Given the description of an element on the screen output the (x, y) to click on. 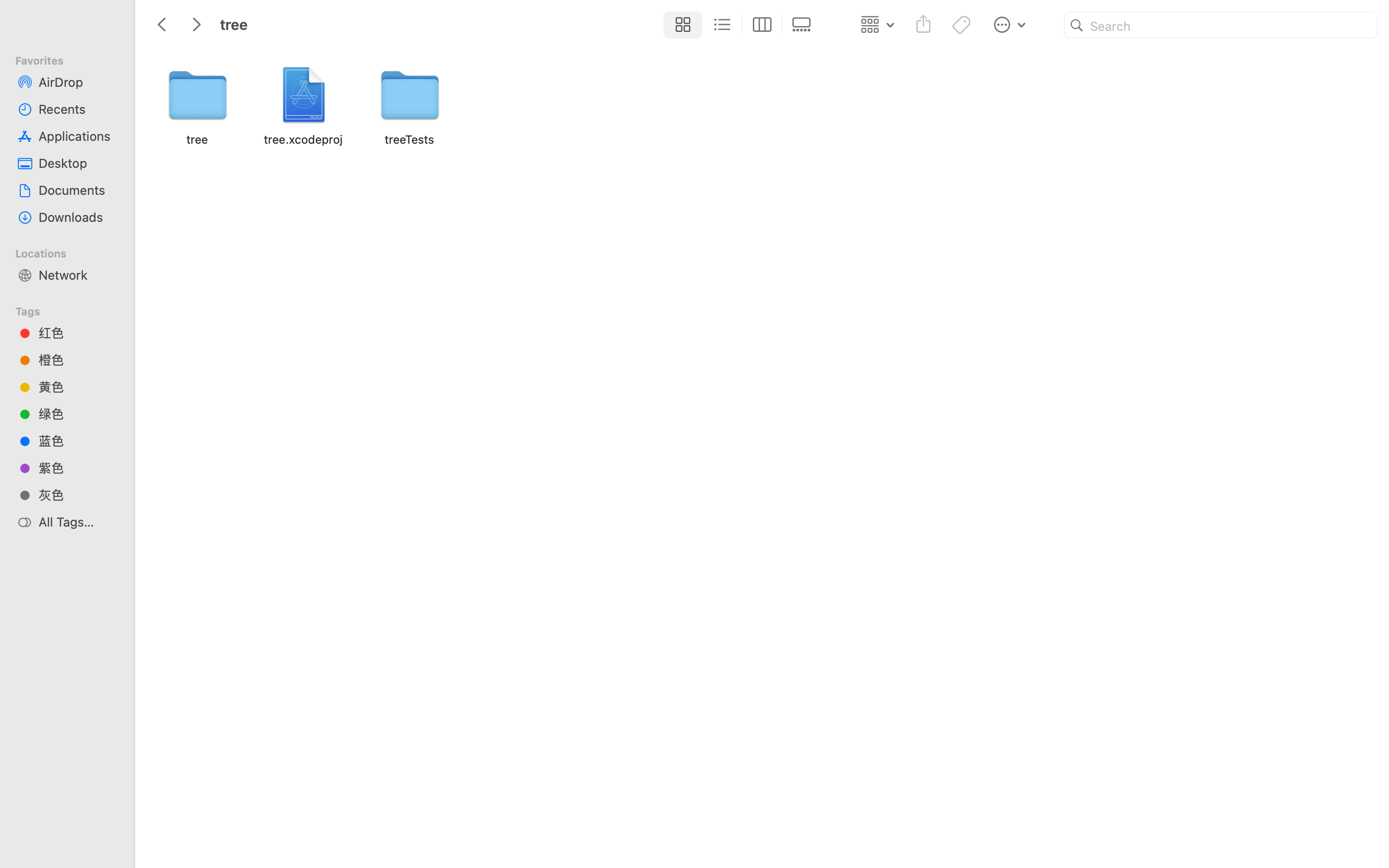
Desktop Element type: AXStaticText (77, 162)
橙色 Element type: AXStaticText (77, 359)
Network Element type: AXStaticText (77, 274)
